Given the description of an element on the screen output the (x, y) to click on. 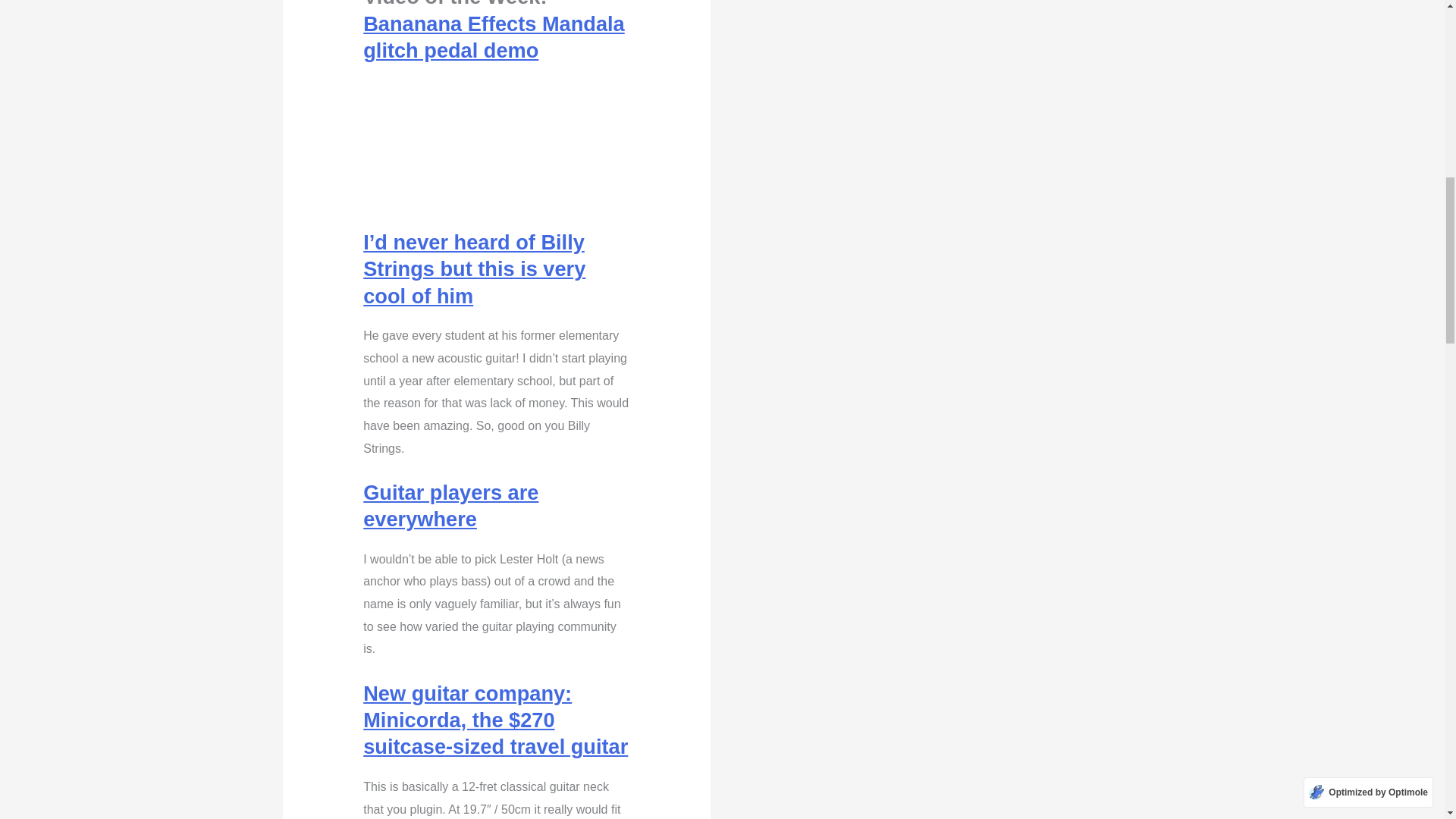
Guitar players are everywhere (450, 505)
BANANANA MANDALA glitch pitch shift effects pedal demo (495, 154)
Bananana Effects Mandala glitch pedal demo (493, 37)
